Given the description of an element on the screen output the (x, y) to click on. 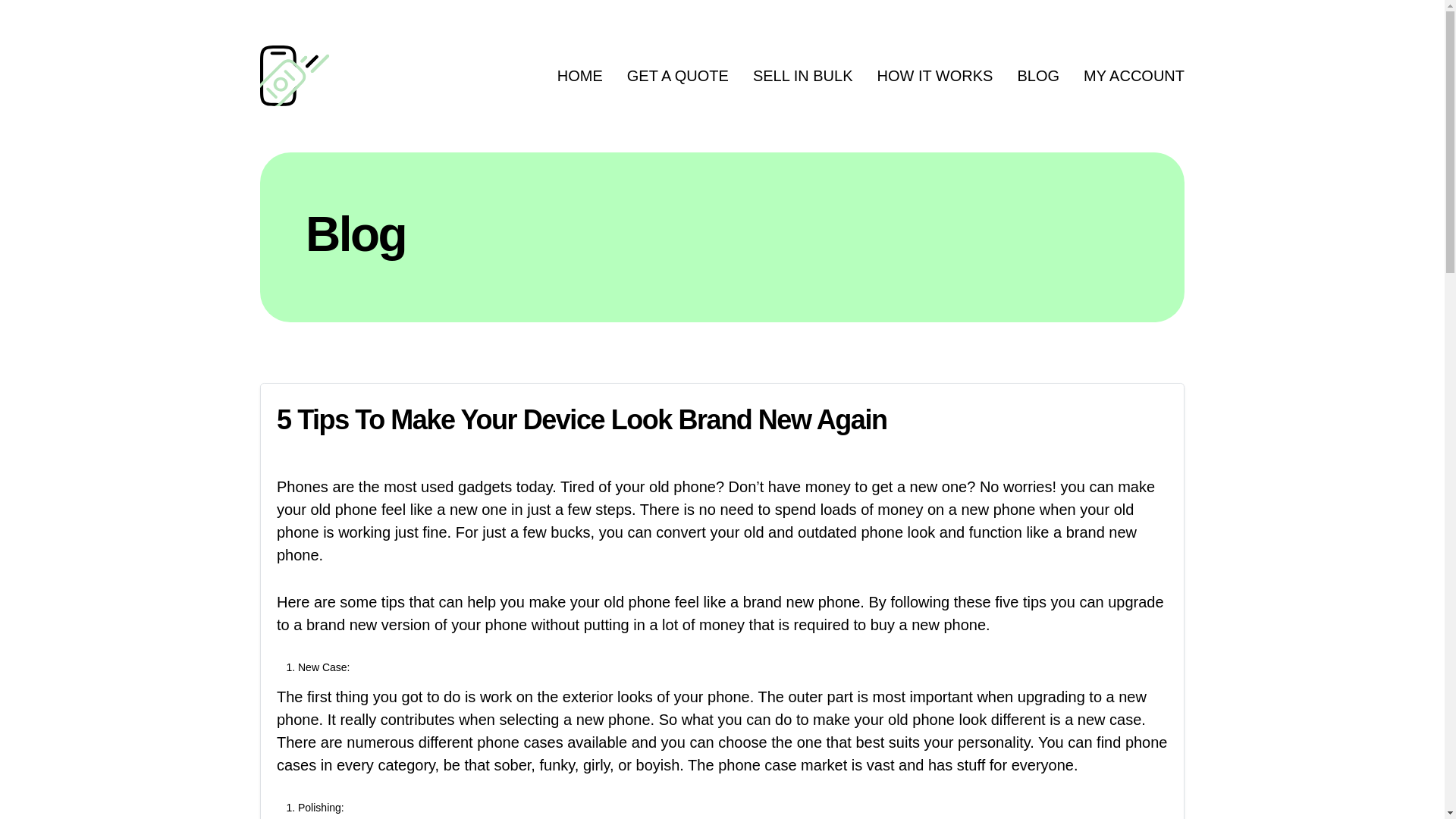
HOW IT WORKS (934, 77)
HOME (579, 77)
BLOG (1037, 77)
SELL IN BULK (802, 77)
GET A QUOTE (678, 77)
